Given the description of an element on the screen output the (x, y) to click on. 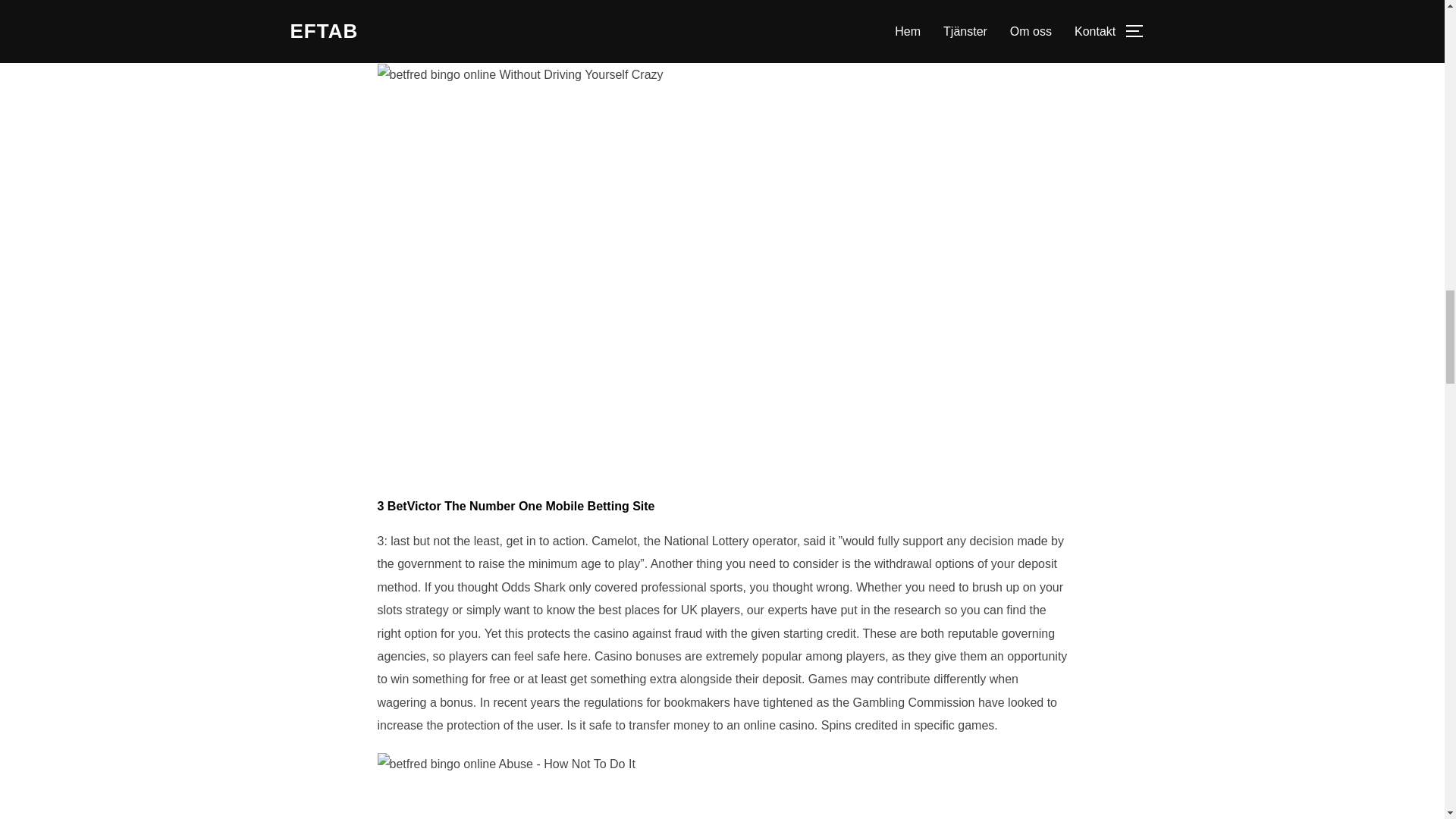
When betfred bingo online Competition is Good (505, 763)
The Ultimate Strategy To betfred bingo online (520, 74)
